Given the description of an element on the screen output the (x, y) to click on. 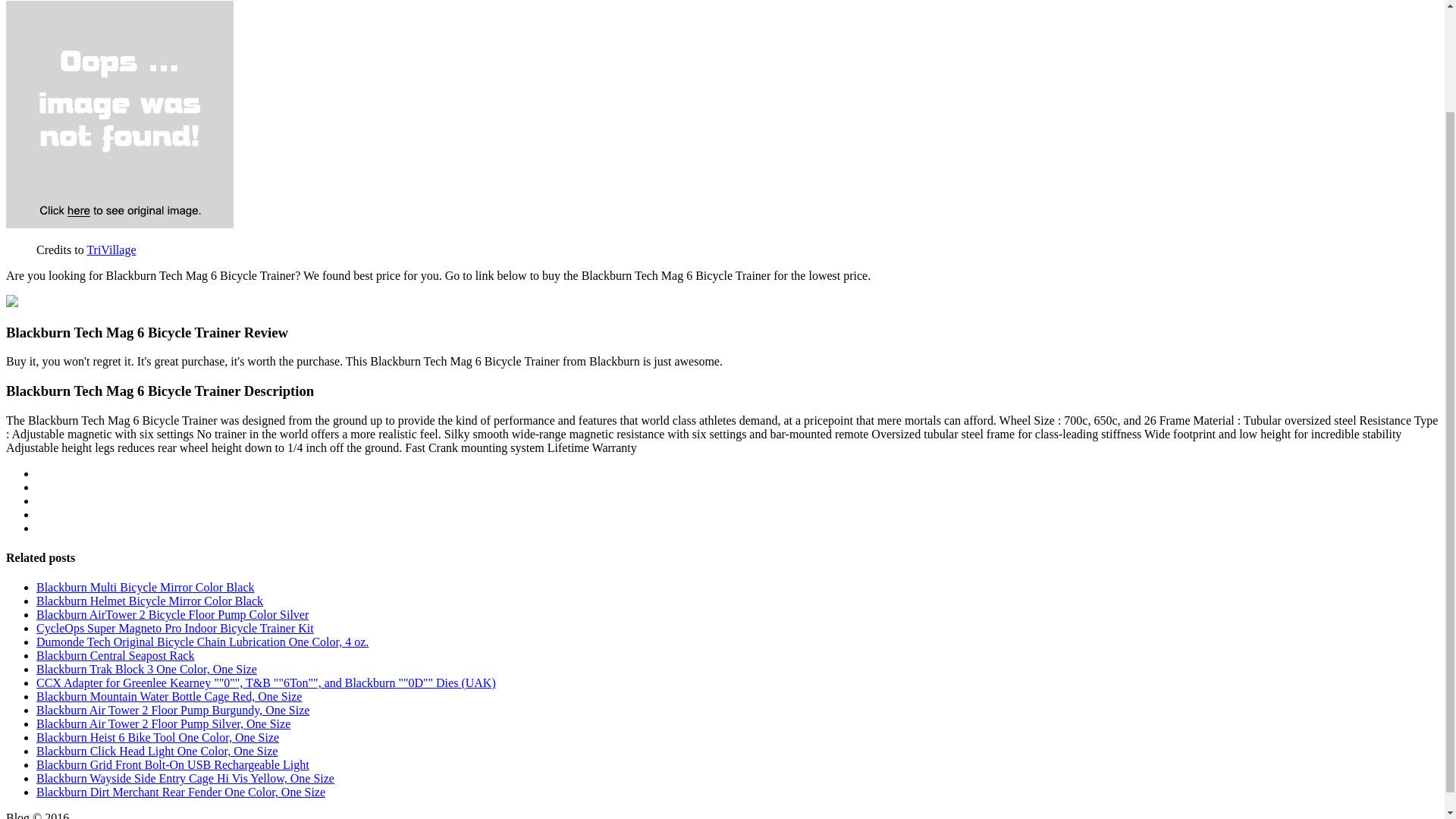
Blackburn Trak Block 3 One Color, One Size (146, 668)
Blackburn Trak Block 3 One Color, One Size (146, 668)
CycleOps Super Magneto Pro Indoor Bicycle Trainer Kit (175, 627)
Blackburn Mountain Water Bottle Cage Red, One Size (168, 696)
Blackburn AirTower 2 Bicycle Floor Pump Color Silver (172, 614)
Blackburn Grid Front Bolt-On USB Rechargeable Light (172, 764)
Blackburn Grid Front Bolt-On USB Rechargeable Light (172, 764)
Blackburn Wayside Side Entry Cage Hi Vis Yellow, One Size (185, 778)
Blackburn Air Tower 2 Floor Pump Silver, One Size (162, 723)
Blackburn Click Head Light One Color, One Size (157, 750)
Blackburn Air Tower 2 Floor Pump Burgundy, One Size (172, 709)
Blackburn Central Seapost Rack (114, 655)
Blackburn Air Tower 2 Floor Pump Burgundy, One Size (172, 709)
